Given the description of an element on the screen output the (x, y) to click on. 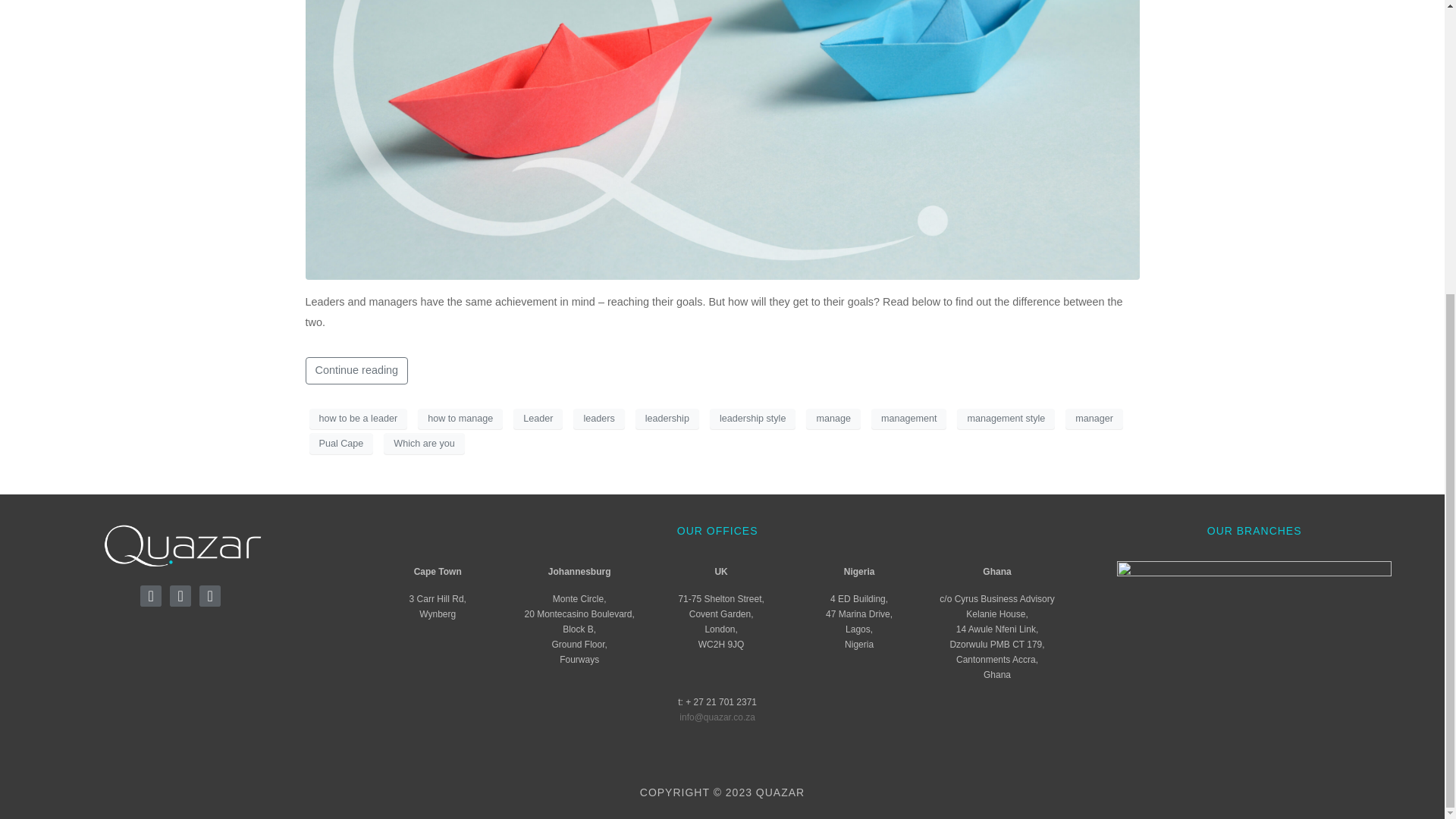
how to manage (459, 418)
Continue reading (355, 370)
leadership (666, 418)
Leader (537, 418)
manage (833, 418)
leadership style (753, 418)
how to be a leader (357, 418)
leaders (598, 418)
